Given the description of an element on the screen output the (x, y) to click on. 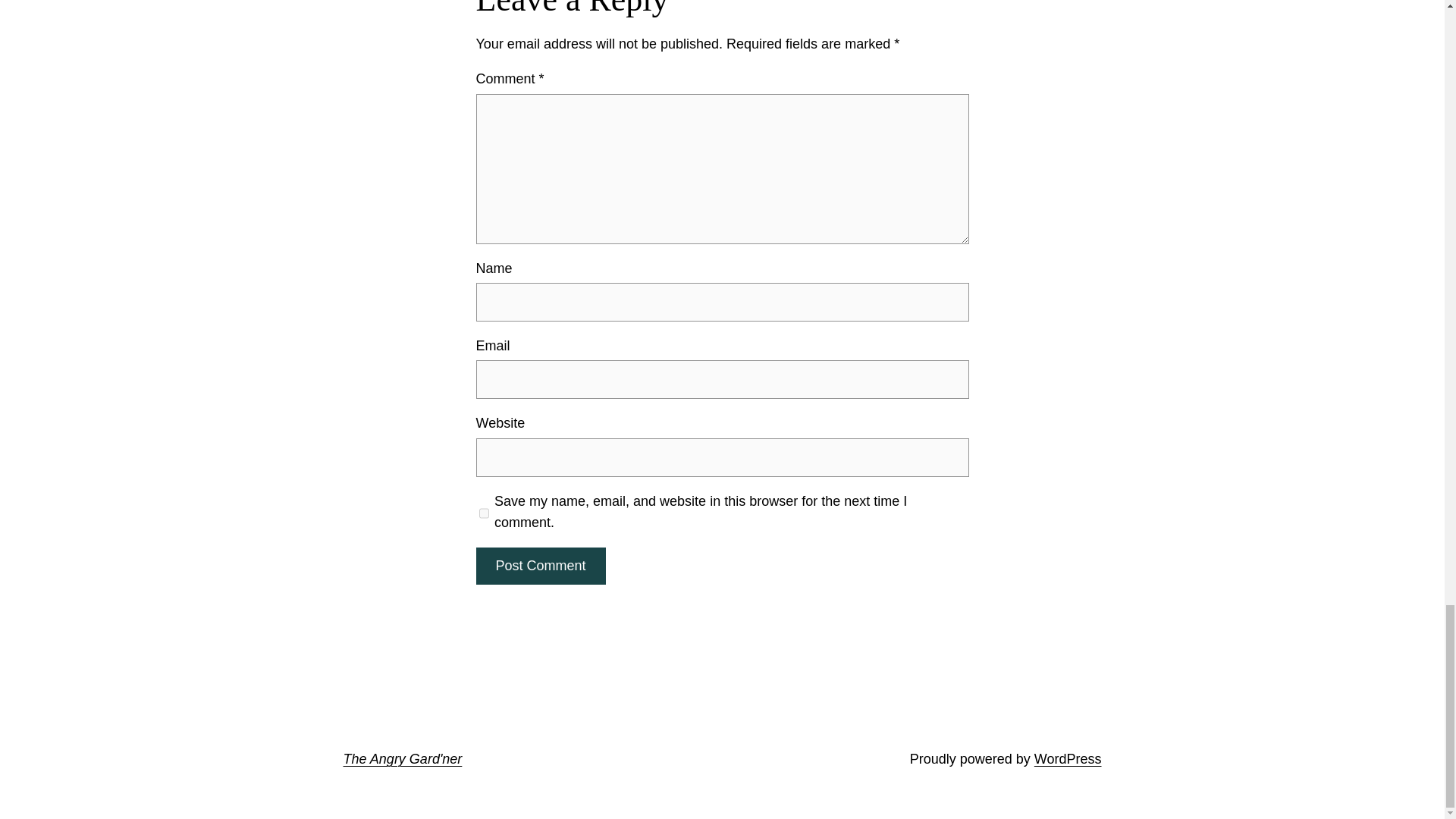
Post Comment (540, 565)
WordPress (1067, 758)
The Angry Gard'ner (401, 758)
Post Comment (540, 565)
